Given the description of an element on the screen output the (x, y) to click on. 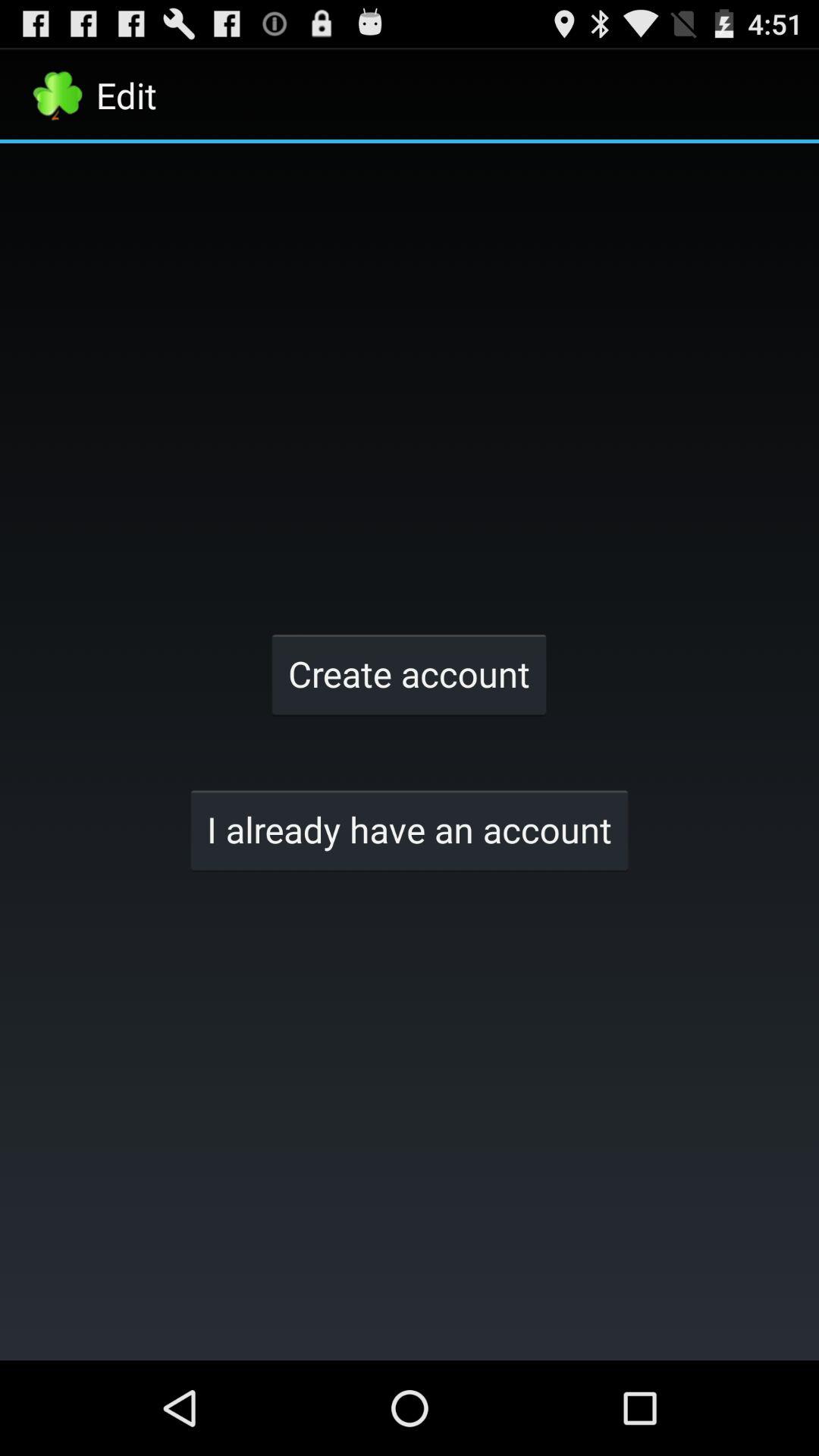
jump until the create account item (408, 673)
